Given the description of an element on the screen output the (x, y) to click on. 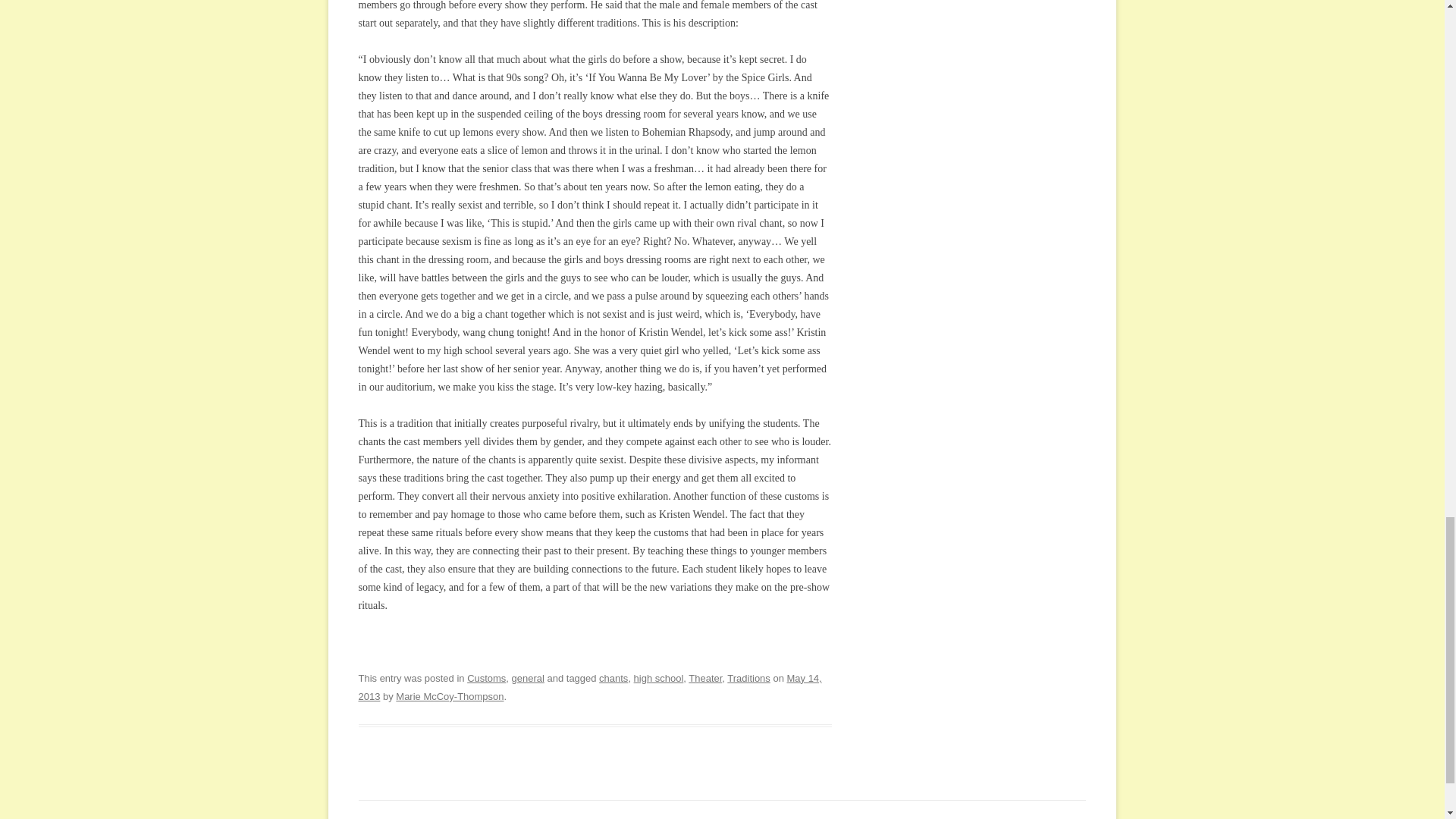
Marie McCoy-Thompson (449, 696)
general (528, 677)
View all posts by Marie McCoy-Thompson (449, 696)
9:33 pm (589, 686)
Traditions (748, 677)
Theater (705, 677)
chants (612, 677)
high school (658, 677)
May 14, 2013 (589, 686)
Customs (486, 677)
